Given the description of an element on the screen output the (x, y) to click on. 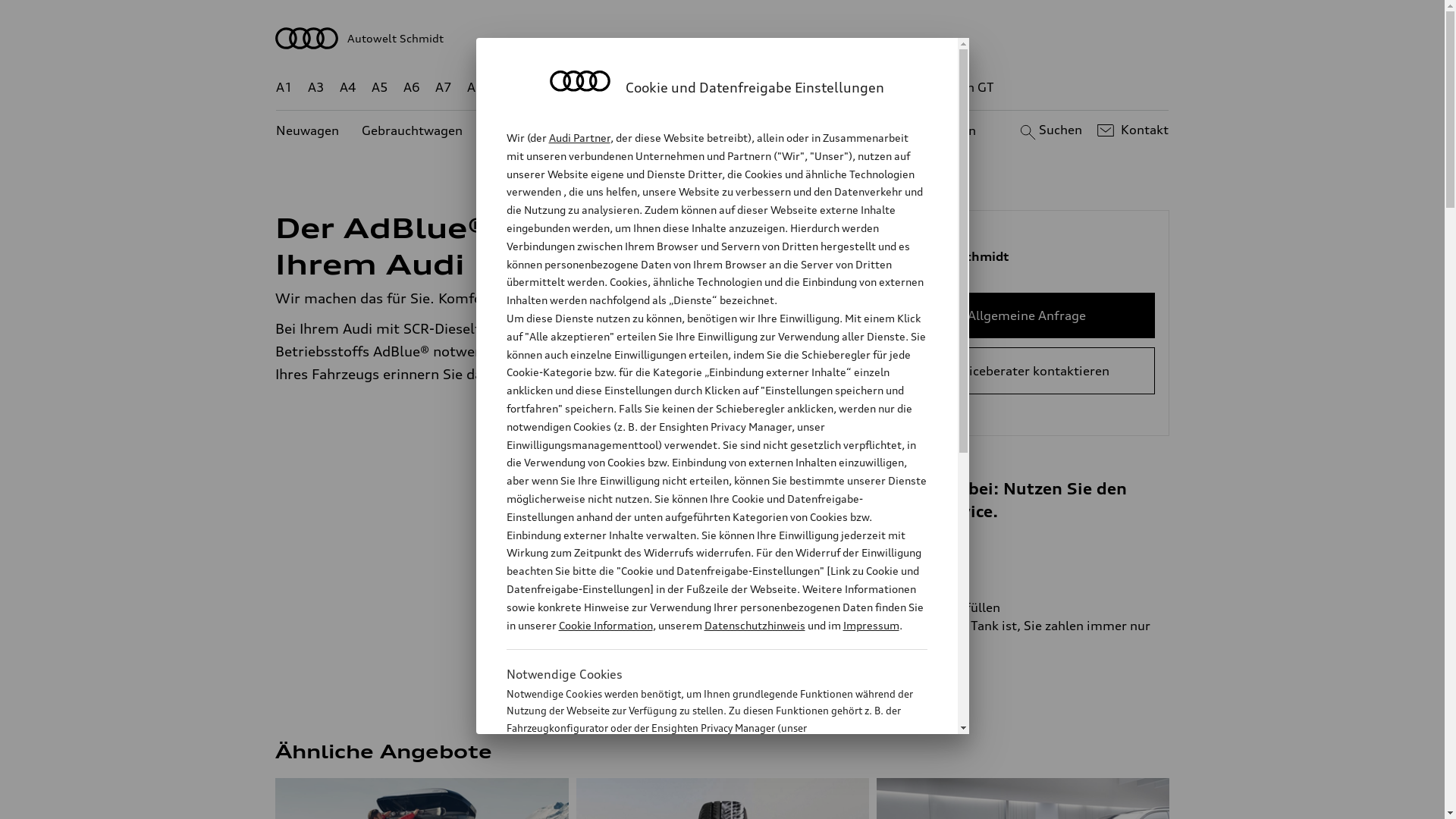
Q8 Element type: text (710, 87)
Q2 Element type: text (507, 87)
Q5 Element type: text (645, 87)
Q3 Element type: text (540, 87)
Preis auf Anfrage Element type: text (784, 669)
TT Element type: text (814, 87)
A6 Element type: text (411, 87)
Kundenservice Element type: text (730, 130)
A7 Element type: text (443, 87)
Q4 e-tron Element type: text (592, 87)
g-tron Element type: text (903, 87)
Q7 Element type: text (678, 87)
e-tron GT Element type: text (965, 87)
Serviceberater kontaktieren Element type: text (1025, 370)
Autowelt Schmidt Element type: text (722, 38)
RS Element type: text (861, 87)
Kontakt Element type: text (1130, 130)
Neuwagen Element type: text (307, 130)
1 Element type: text (496, 220)
Impressum Element type: text (871, 624)
Allgemeine Anfrage Element type: text (1025, 315)
Audi Partner Element type: text (579, 137)
Cookie Information Element type: text (700, 802)
Cookie Information Element type: text (605, 624)
A3 Element type: text (315, 87)
A1 Element type: text (284, 87)
Gebrauchtwagen Element type: text (411, 130)
Suchen Element type: text (1049, 130)
Angebote Element type: text (636, 130)
A5 Element type: text (379, 87)
A4 Element type: text (347, 87)
A8 Element type: text (475, 87)
Q8 e-tron Element type: text (763, 87)
Datenschutzhinweis Element type: text (753, 624)
